Given the description of an element on the screen output the (x, y) to click on. 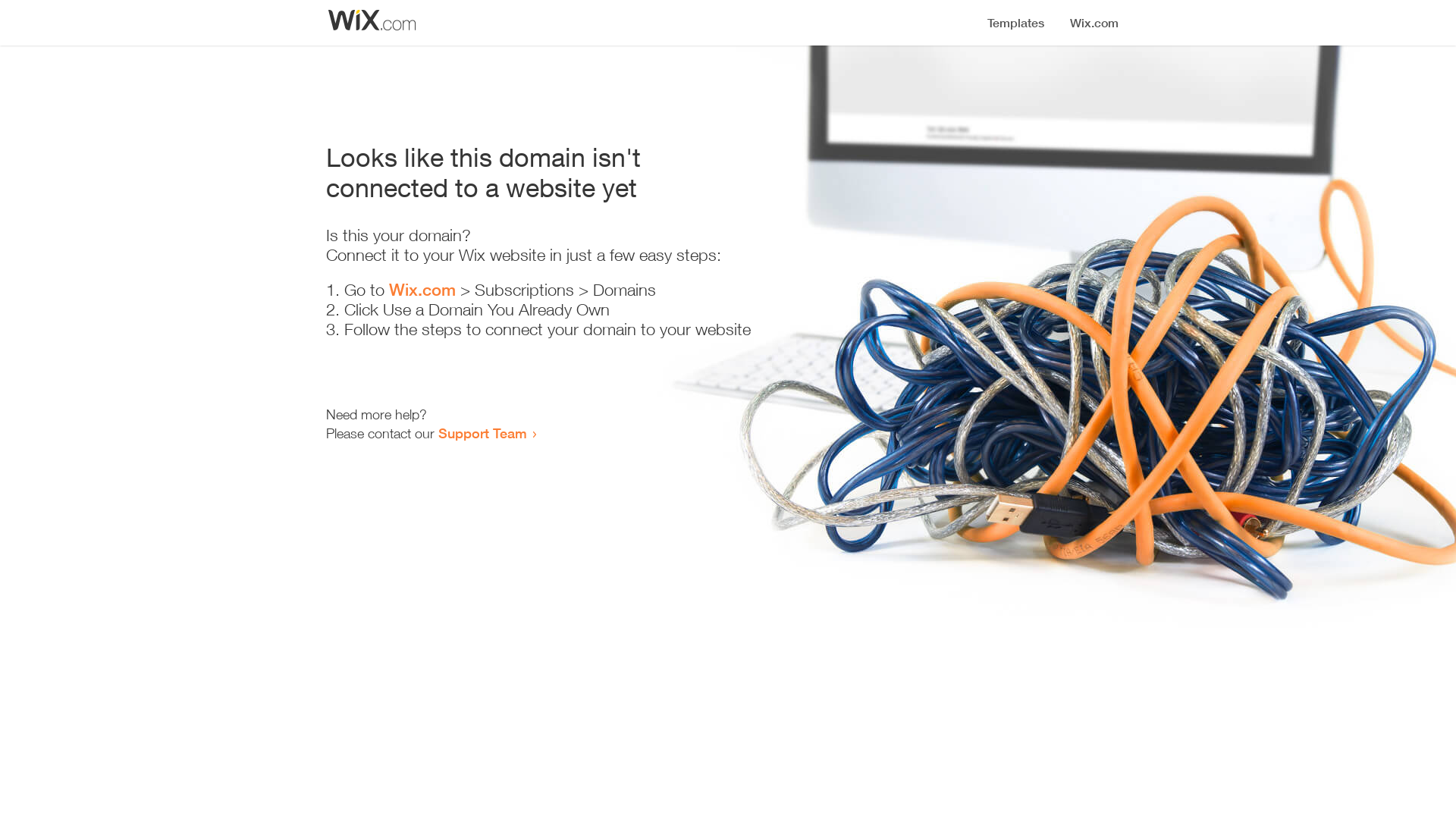
Support Team Element type: text (482, 432)
Wix.com Element type: text (422, 289)
